Given the description of an element on the screen output the (x, y) to click on. 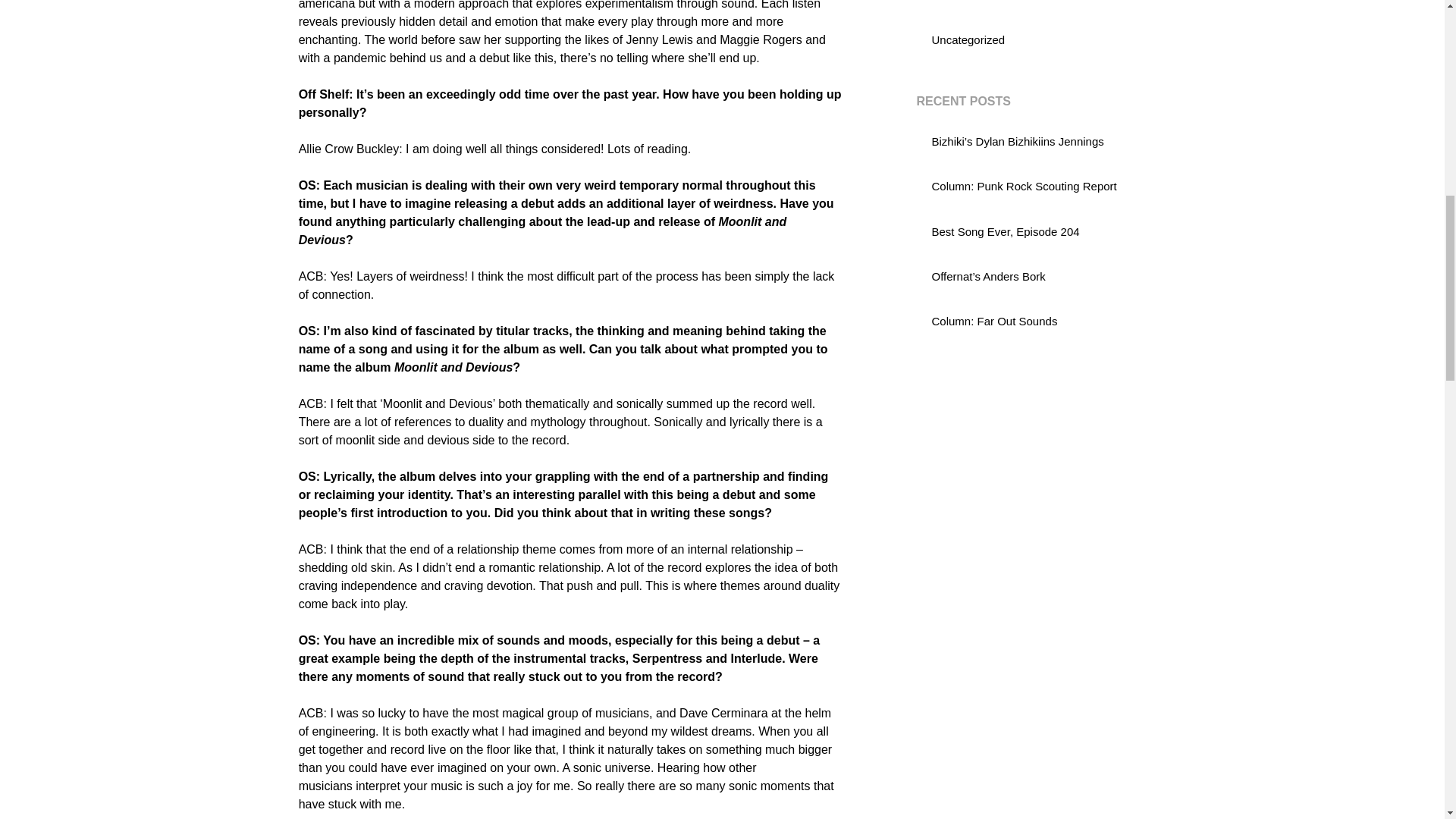
Best Song Ever, Episode 204 (1004, 231)
Column: Punk Rock Scouting Report (1023, 185)
Uncategorized (967, 39)
Column: Far Out Sounds (994, 320)
